Given the description of an element on the screen output the (x, y) to click on. 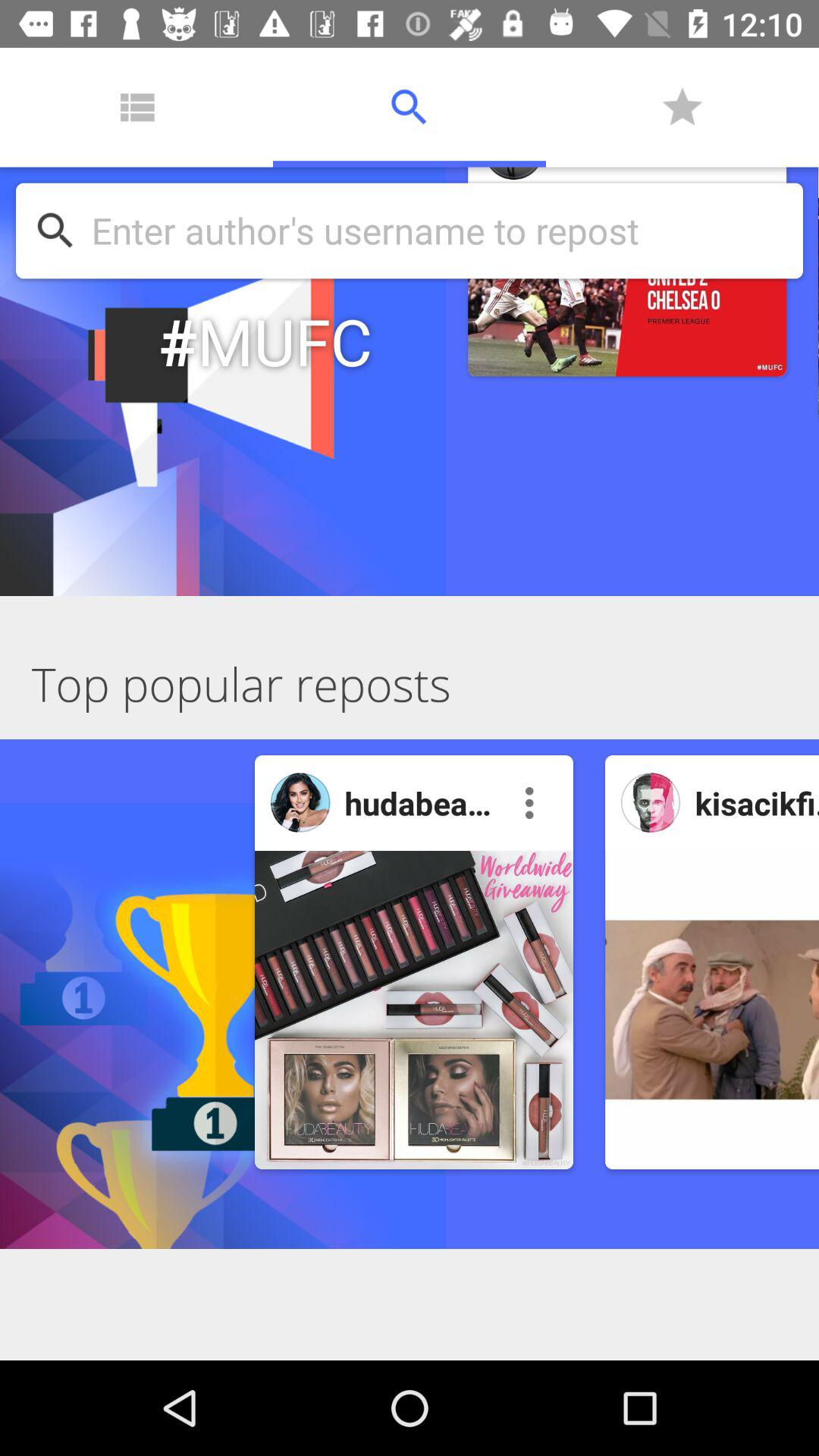
search (439, 230)
